Given the description of an element on the screen output the (x, y) to click on. 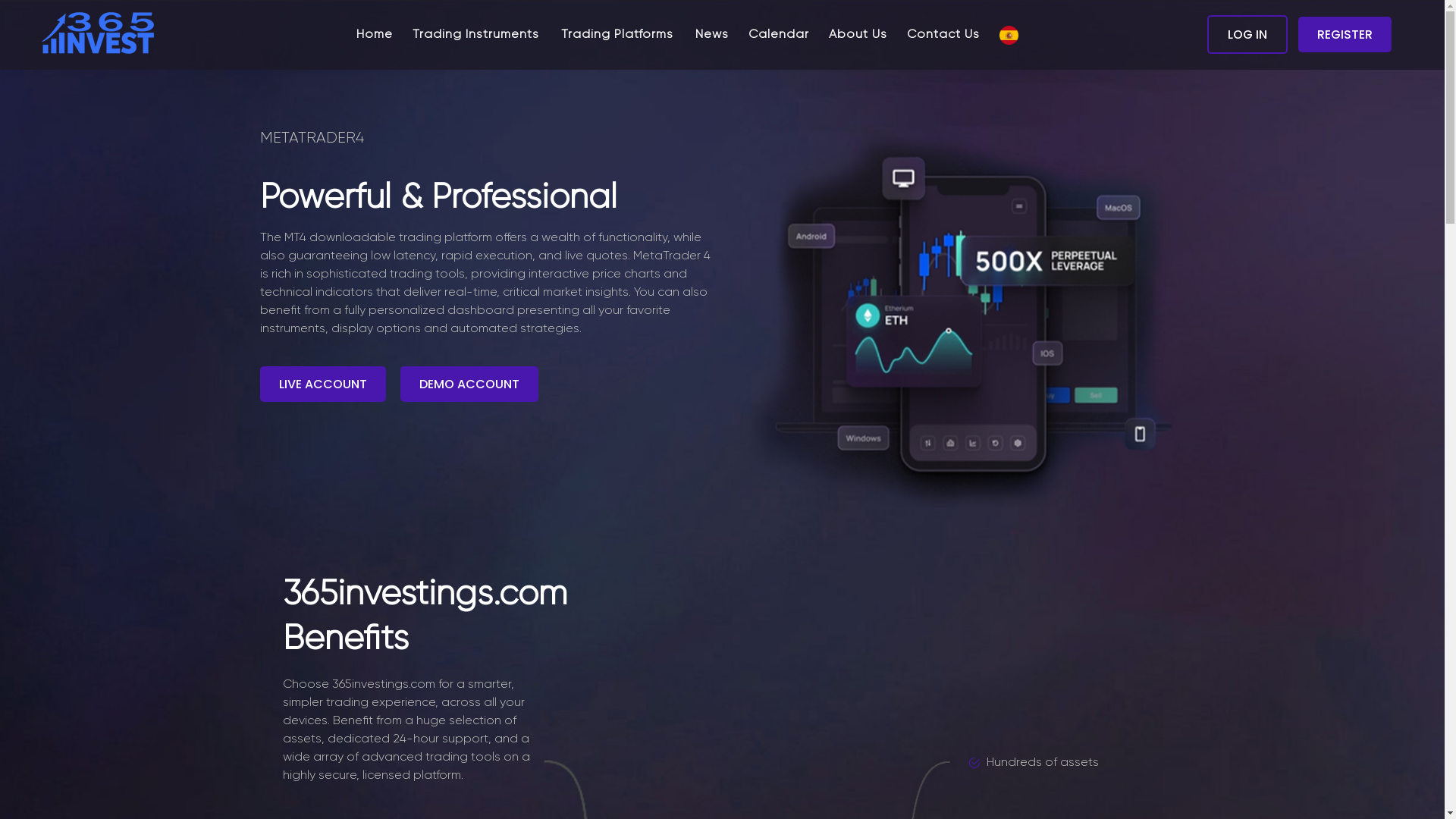
Trading Platforms Element type: text (618, 33)
LOG IN Element type: text (1247, 34)
Trading Instruments Element type: text (476, 33)
Calendar Element type: text (778, 33)
About Us Element type: text (857, 33)
LIVE ACCOUNT Element type: text (322, 383)
DEMO ACCOUNT Element type: text (469, 383)
Contact Us Element type: text (942, 33)
News Element type: text (711, 33)
Home Element type: text (374, 33)
REGISTER Element type: text (1344, 34)
